Given the description of an element on the screen output the (x, y) to click on. 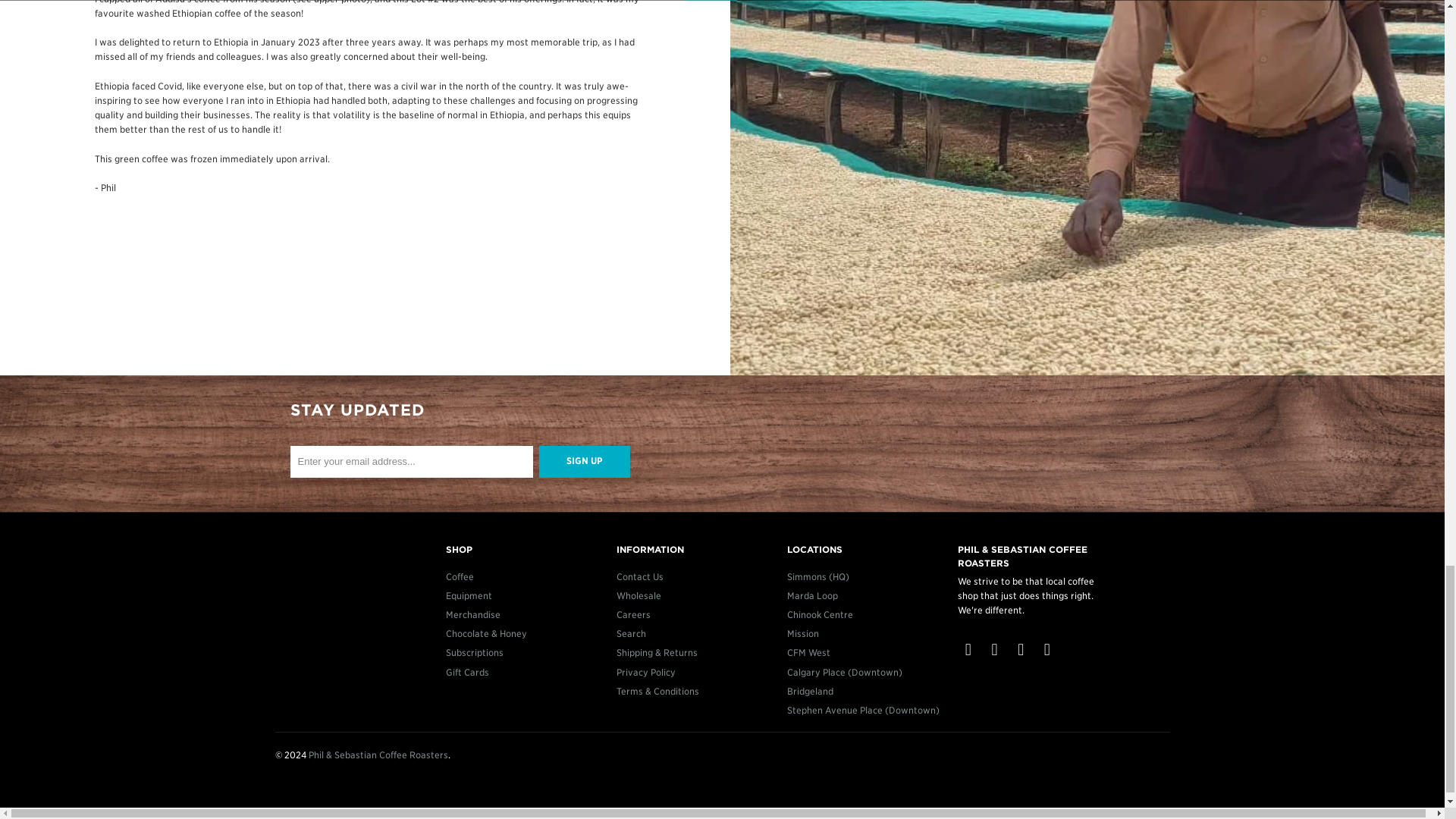
Sign Up (583, 461)
